Given the description of an element on the screen output the (x, y) to click on. 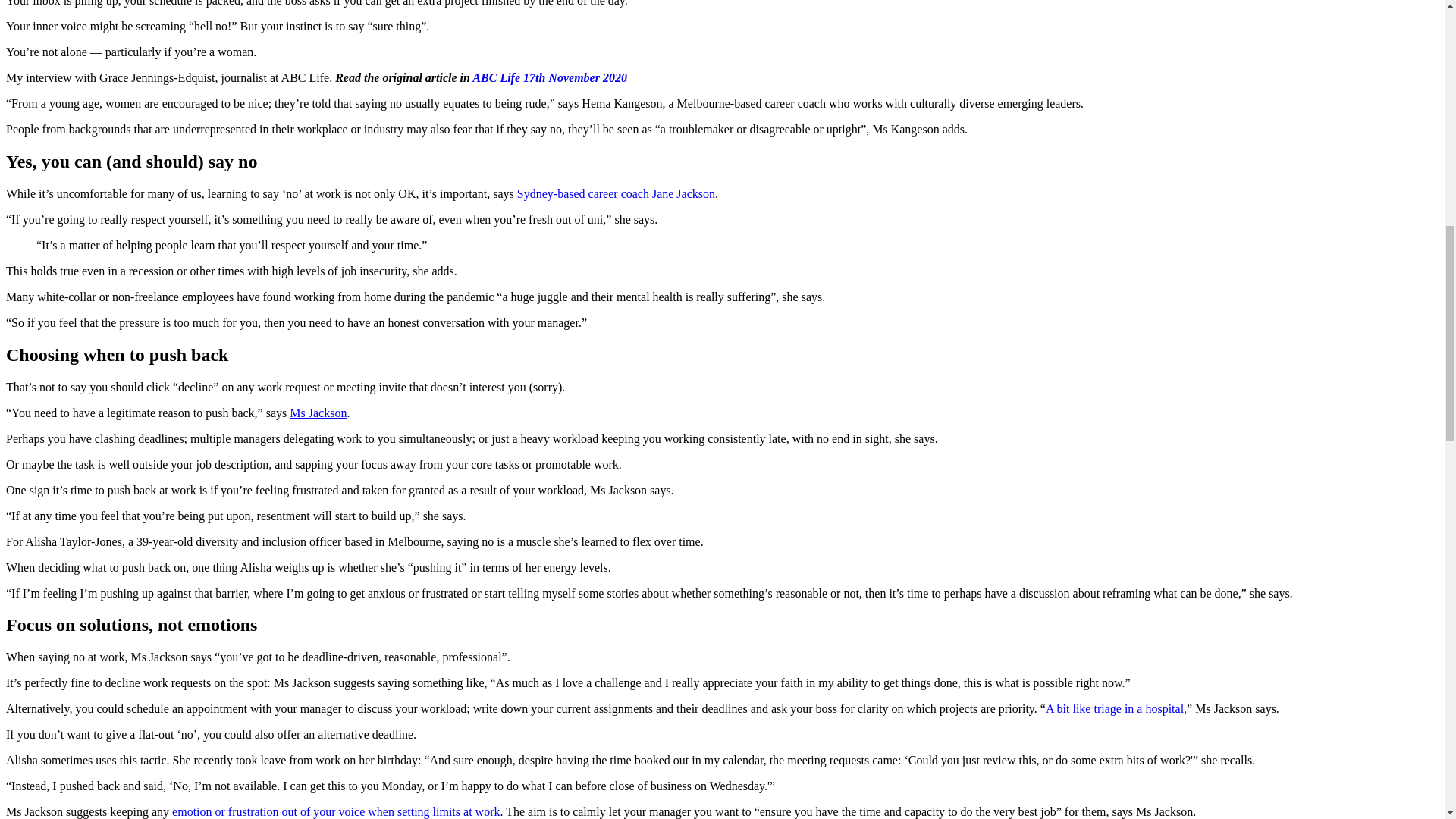
ABC Life 17th November 2020 (549, 77)
Ms Jackson (317, 412)
A bit like triage in a hospital, (1115, 707)
Sydney-based career coach Jane Jackson (615, 193)
